Given the description of an element on the screen output the (x, y) to click on. 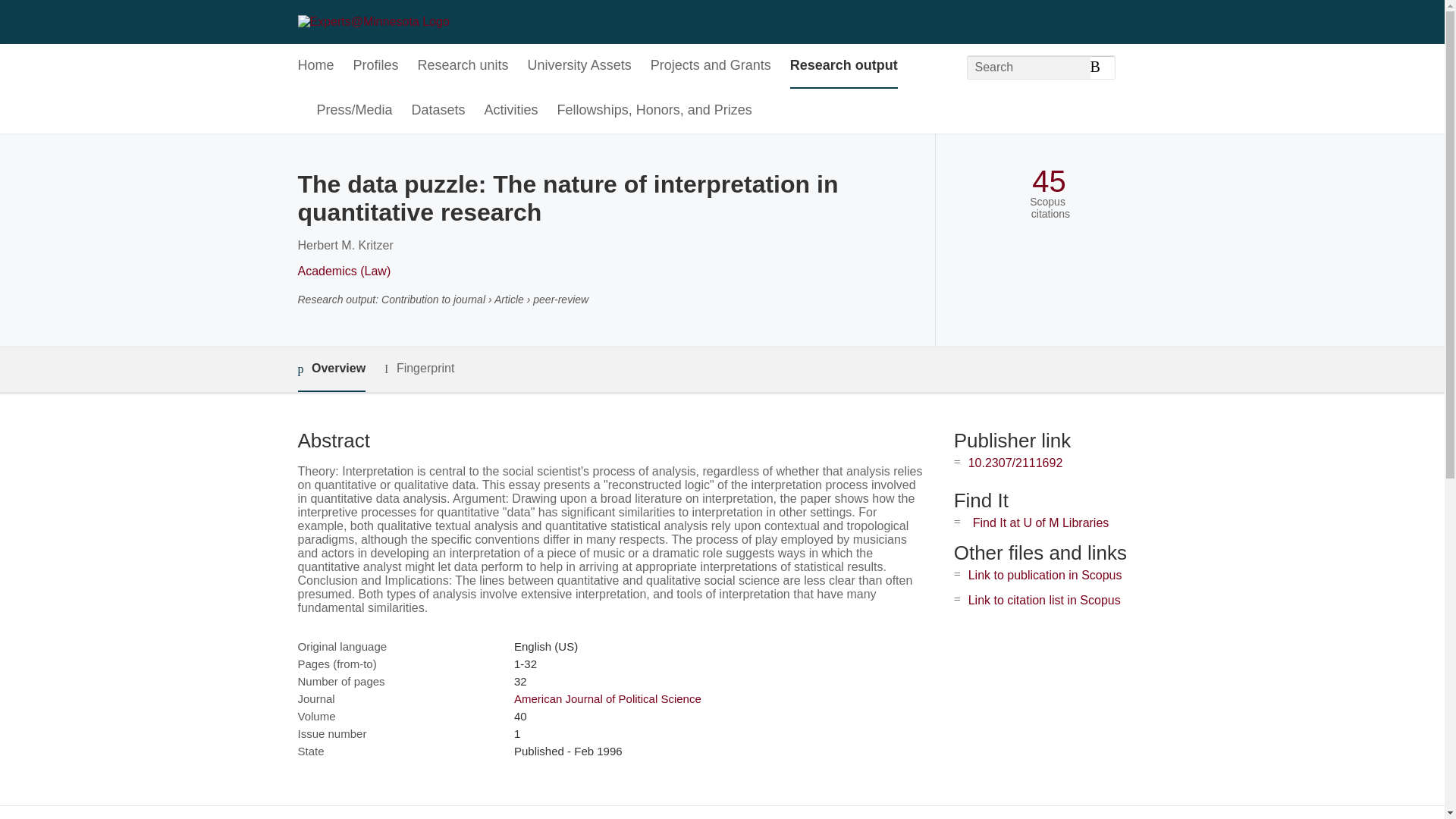
Projects and Grants (710, 66)
University Assets (579, 66)
American Journal of Political Science (607, 698)
Link to citation list in Scopus (1044, 599)
45 (1048, 181)
Find It at U of M Libraries (1040, 522)
Activities (511, 110)
Research output (844, 66)
Fingerprint (419, 368)
Fellowships, Honors, and Prizes (654, 110)
